Given the description of an element on the screen output the (x, y) to click on. 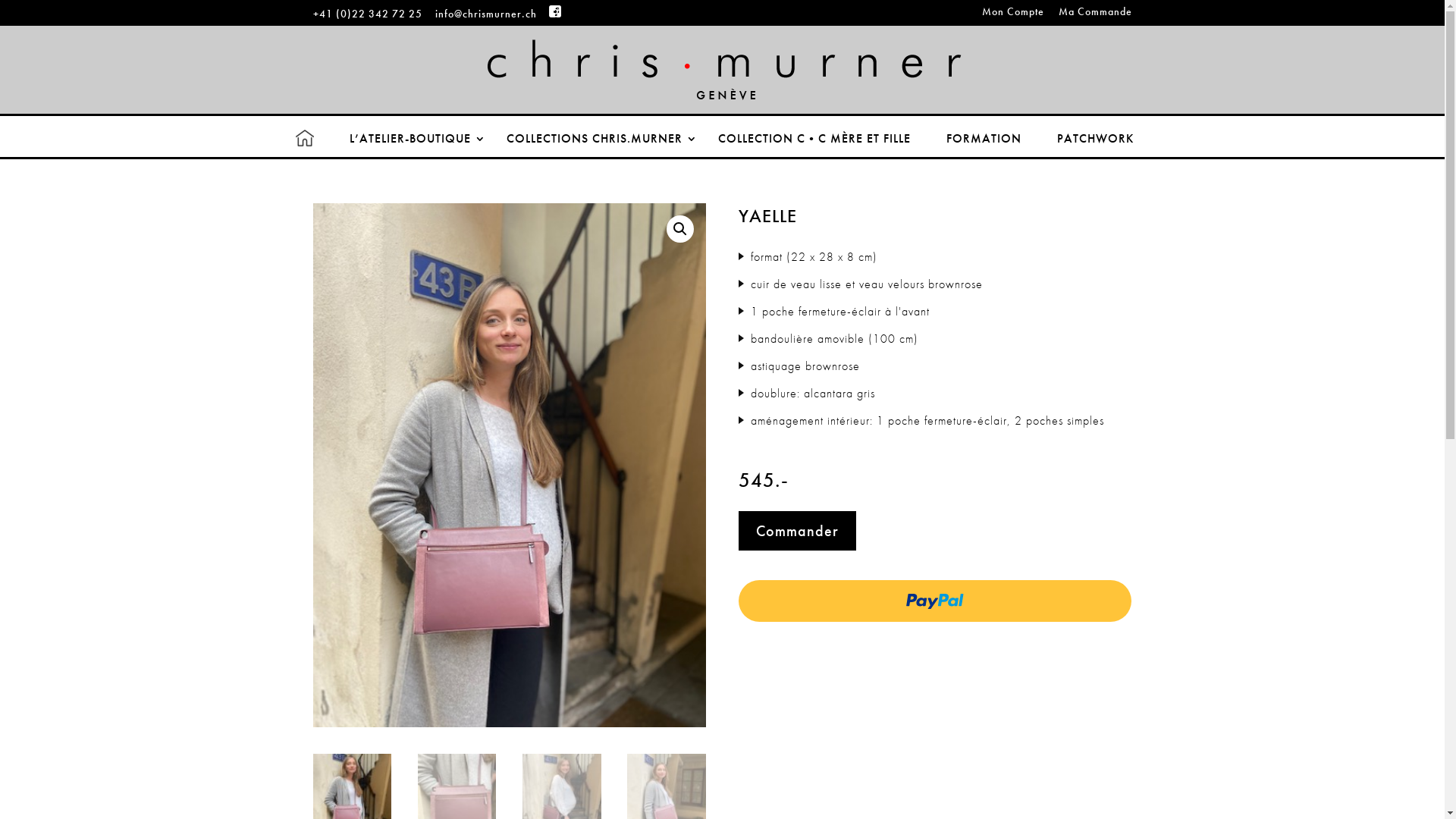
PATCHWORK Element type: text (1102, 138)
Mon Compte Element type: text (1012, 15)
Ma Commande Element type: text (1095, 15)
PayPal Element type: hover (934, 600)
COLLECTIONS CHRIS.MURNER Element type: text (601, 138)
info@chrismurner.ch Element type: text (485, 13)
Commander Element type: text (797, 530)
IMG_8331 Element type: hover (508, 465)
FORMATION Element type: text (991, 138)
